Given the description of an element on the screen output the (x, y) to click on. 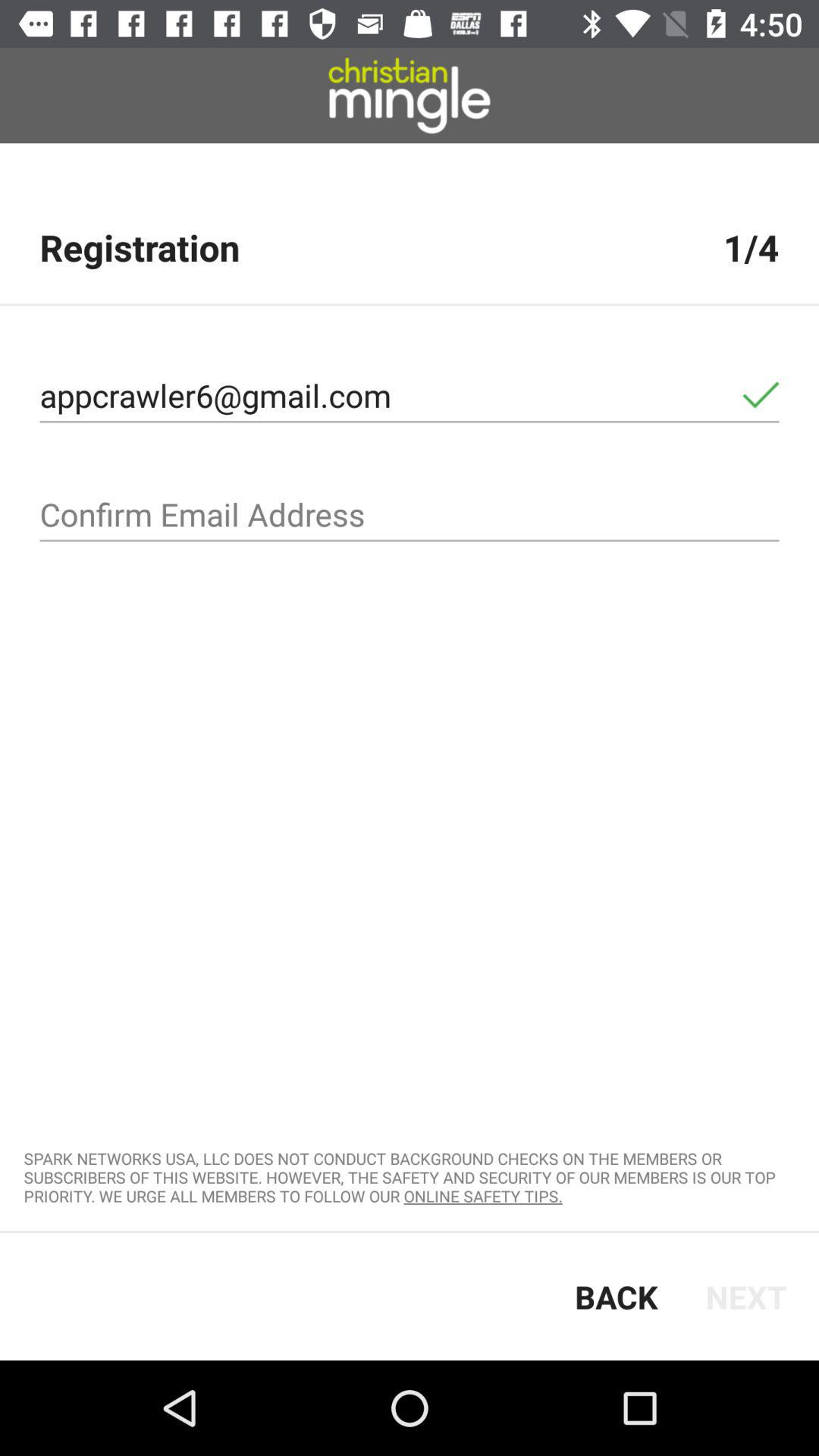
confrim email address text box (409, 514)
